Given the description of an element on the screen output the (x, y) to click on. 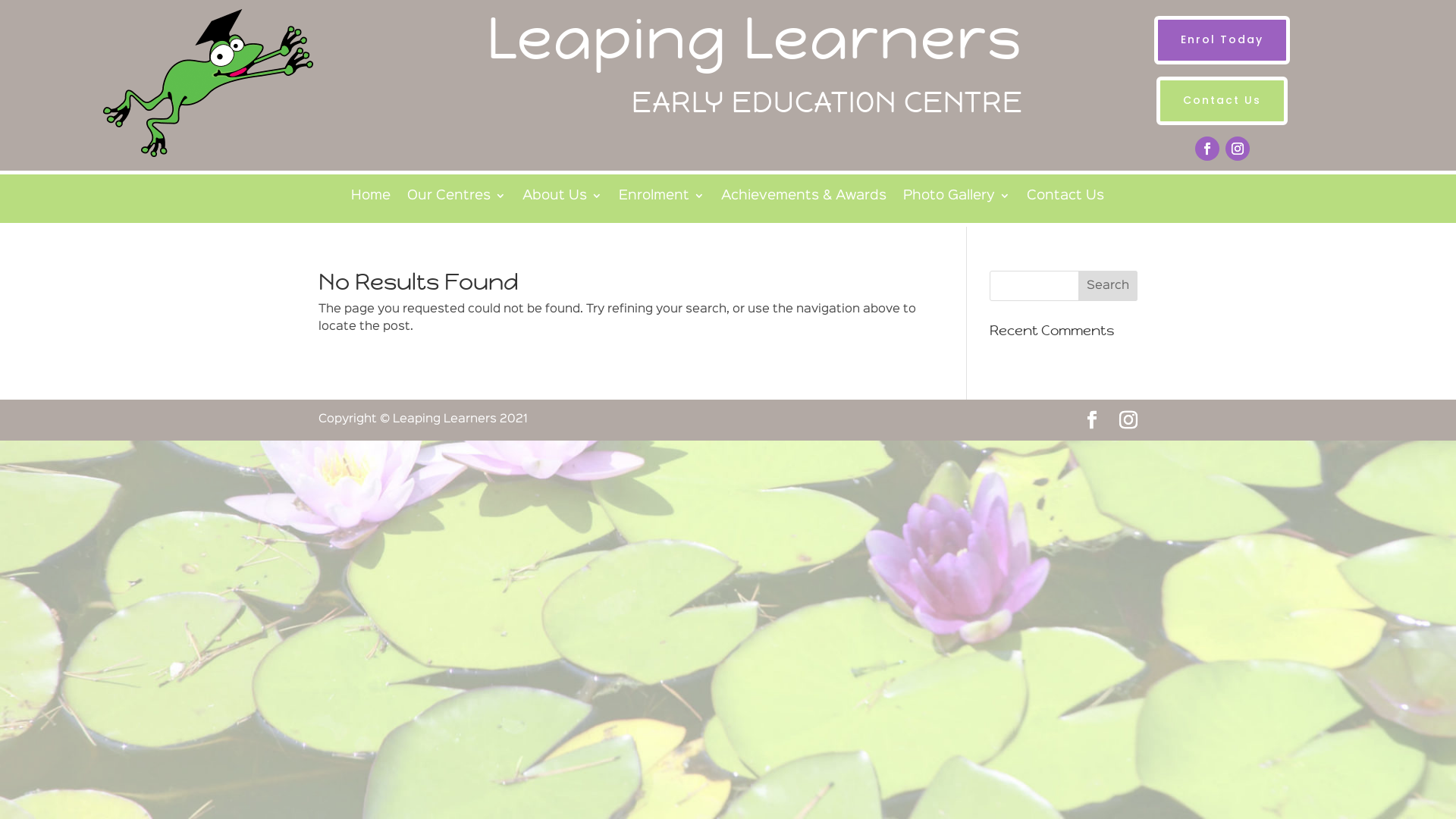
Search Element type: text (1107, 285)
Enrolment Element type: text (661, 198)
Contact Us Element type: text (1221, 100)
Follow on Facebook Element type: hover (1207, 148)
Our Centres Element type: text (456, 198)
Follow on Instagram Element type: hover (1237, 148)
Enrol Today Element type: text (1221, 39)
Achievements & Awards Element type: text (803, 198)
Photo Gallery Element type: text (956, 198)
Contact Us Element type: text (1065, 198)
site-logo Element type: hover (208, 82)
Home Element type: text (370, 198)
About Us Element type: text (562, 198)
